Given the description of an element on the screen output the (x, y) to click on. 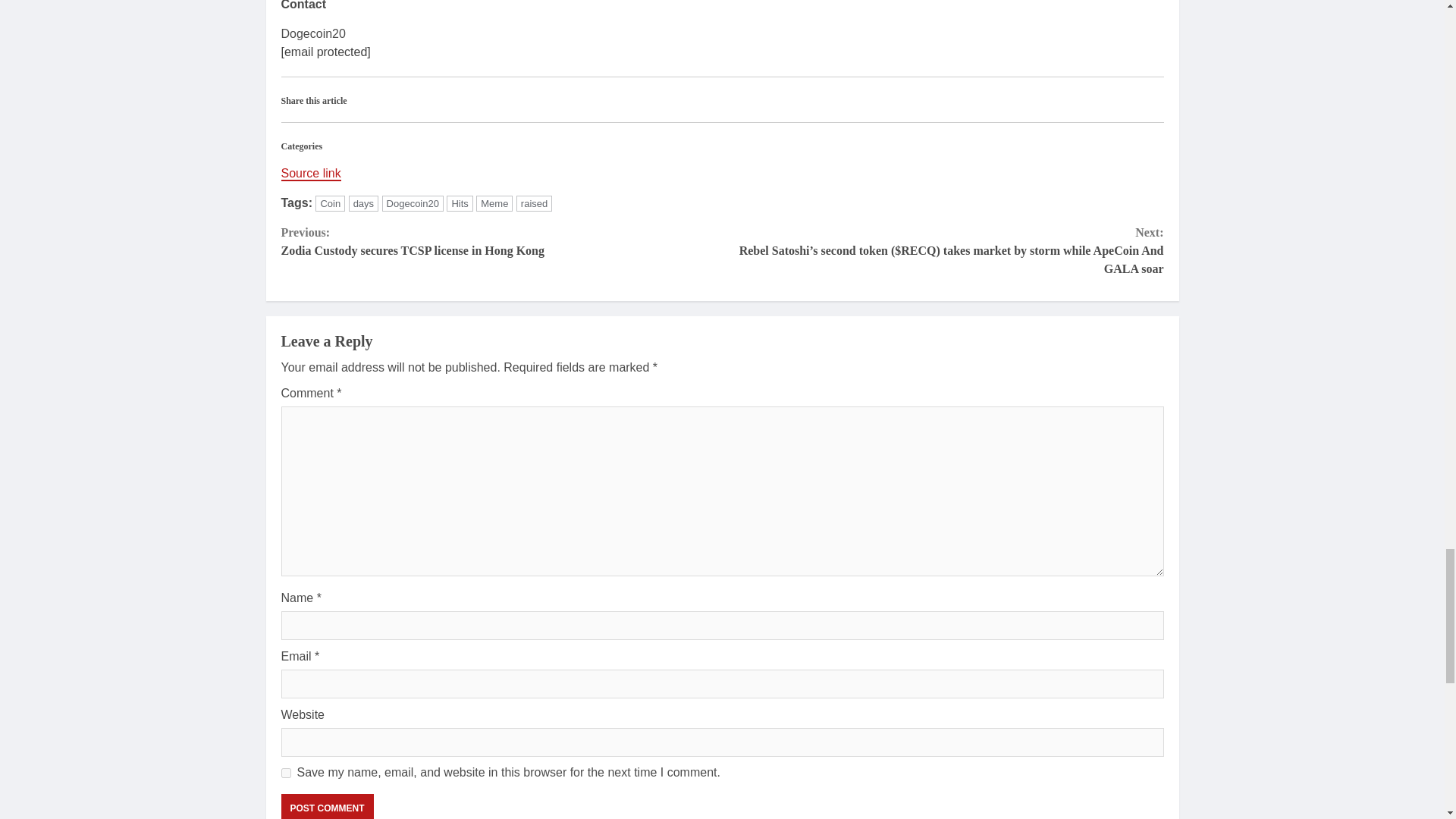
Dogecoin20 (412, 203)
yes (501, 241)
days (285, 773)
Coin (363, 203)
Post Comment (330, 203)
Meme (326, 806)
Hits (494, 203)
Post Comment (458, 203)
raised (326, 806)
Source link (533, 203)
